Given the description of an element on the screen output the (x, y) to click on. 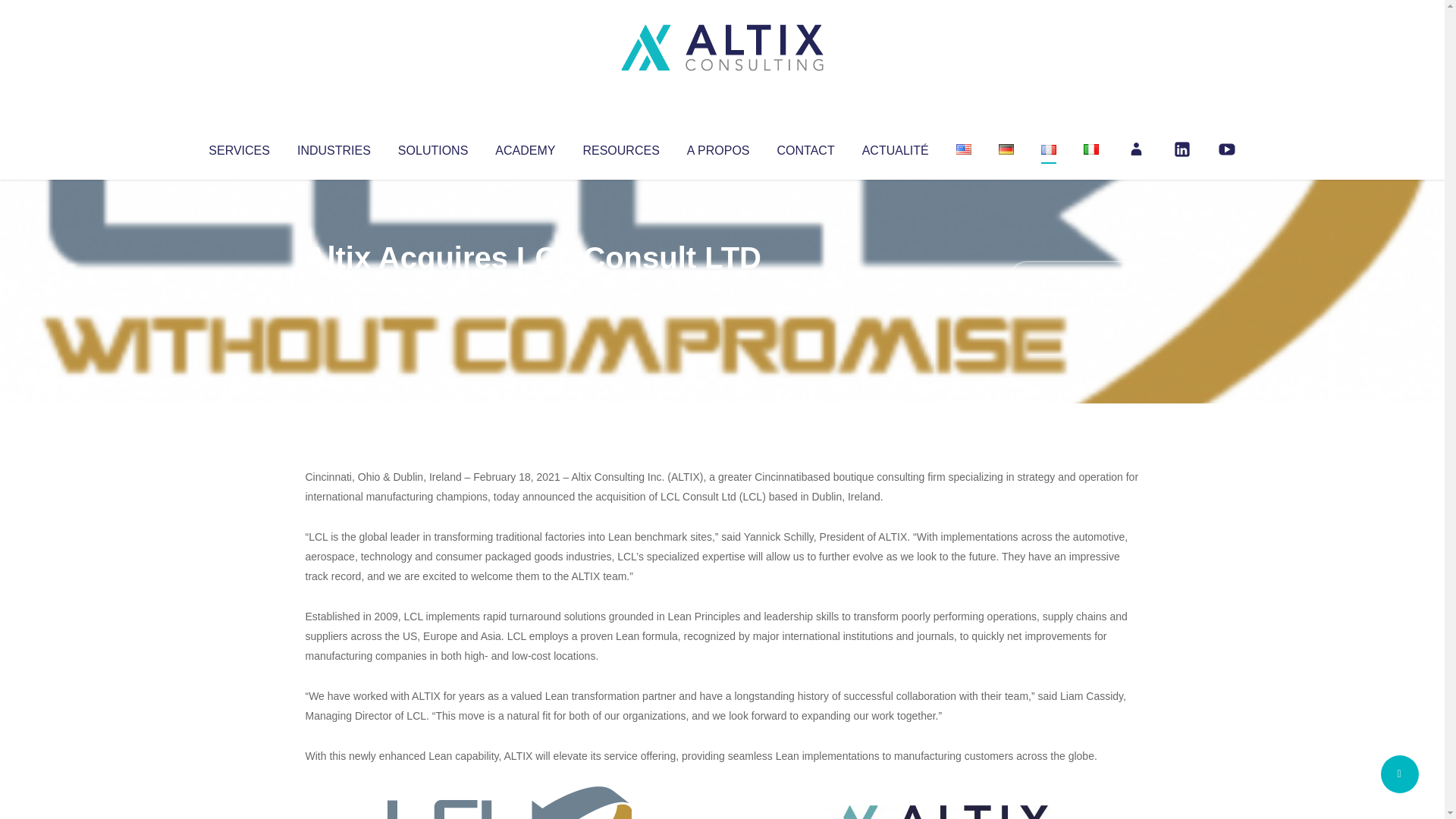
Articles par Altix (333, 287)
ACADEMY (524, 146)
INDUSTRIES (334, 146)
Uncategorized (530, 287)
A PROPOS (718, 146)
Altix (333, 287)
SOLUTIONS (432, 146)
SERVICES (238, 146)
RESOURCES (620, 146)
No Comments (1073, 278)
